Given the description of an element on the screen output the (x, y) to click on. 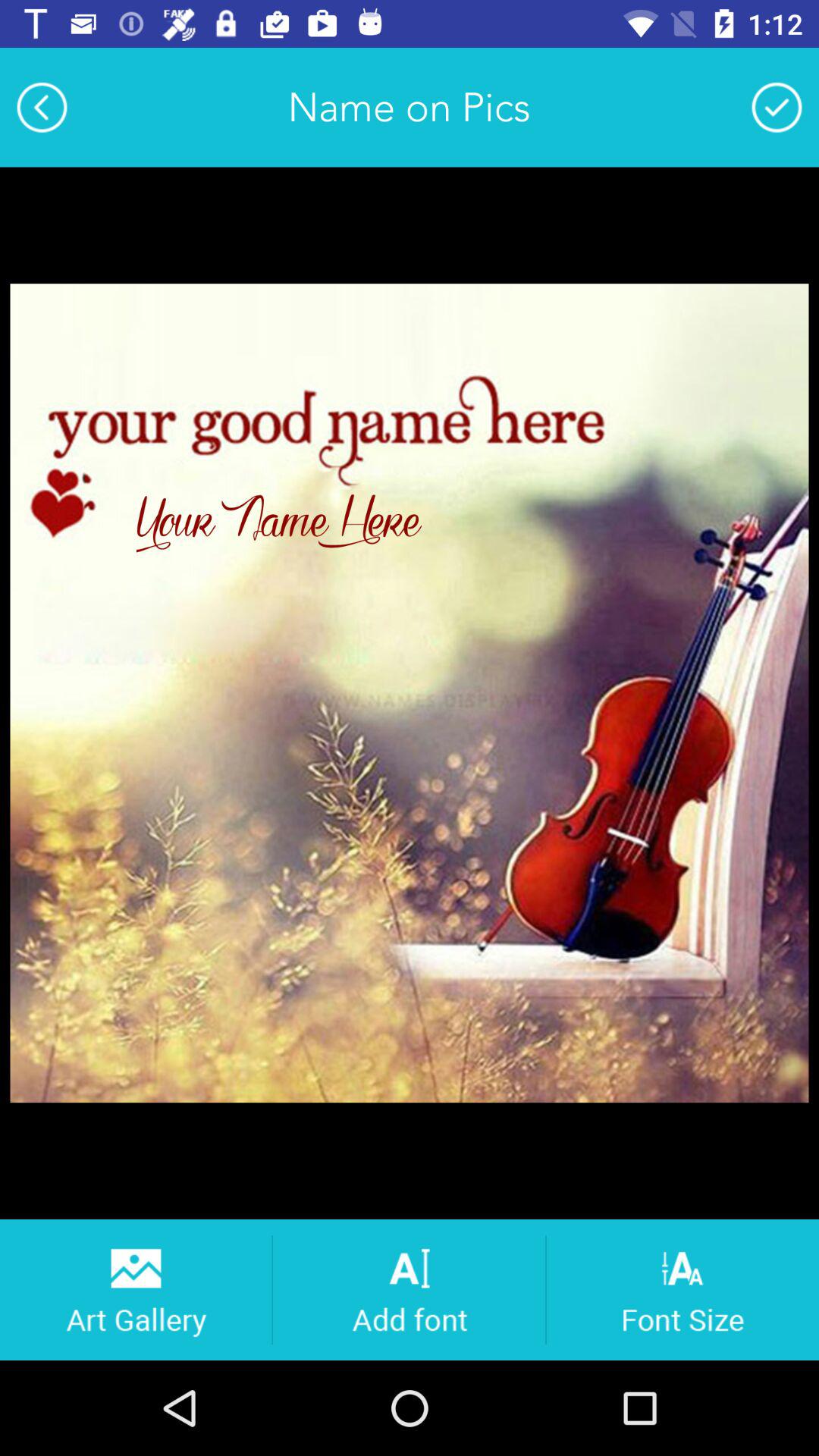
select art/picture gallery (135, 1289)
